Given the description of an element on the screen output the (x, y) to click on. 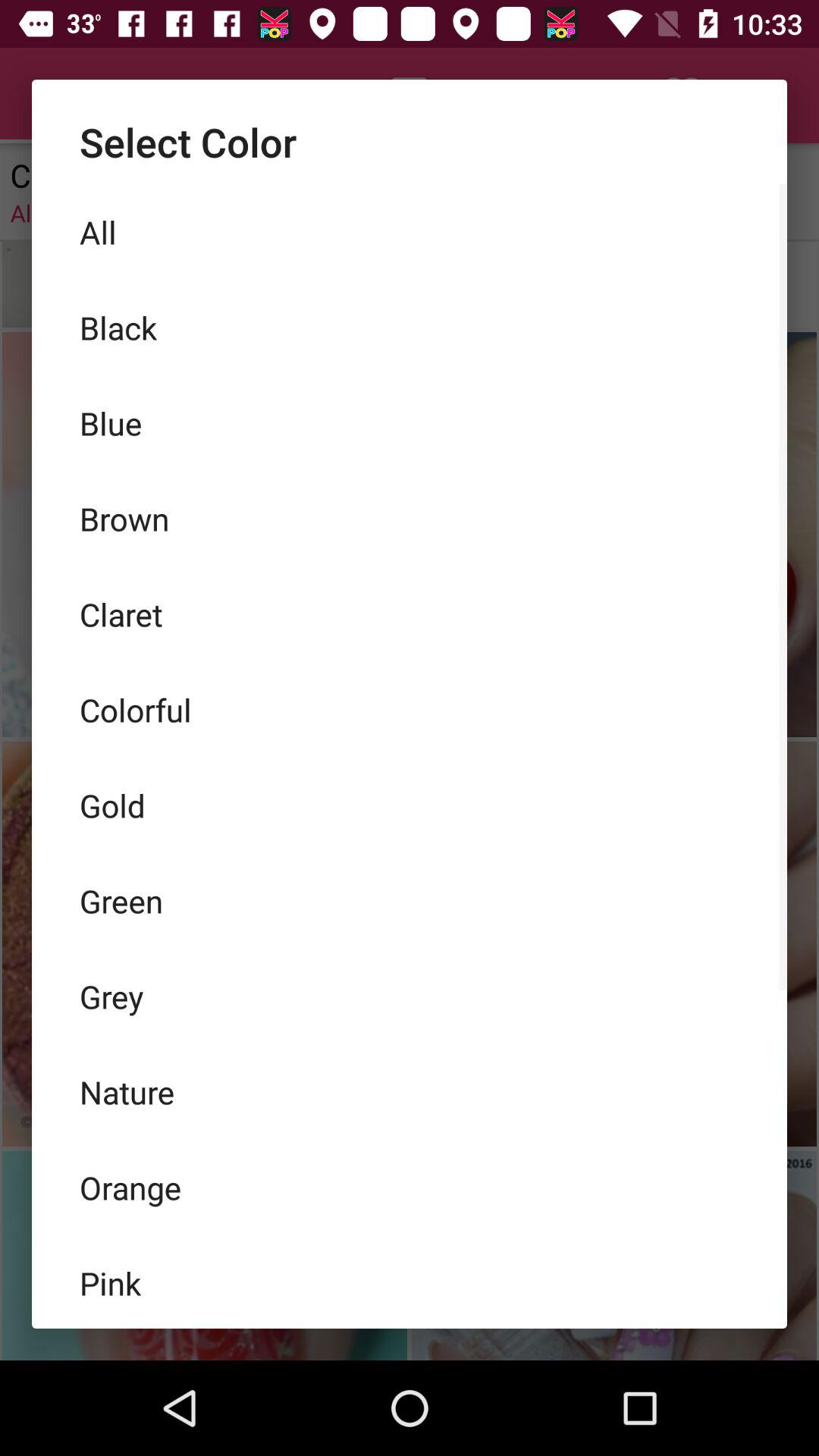
turn on the item below nature (409, 1187)
